Given the description of an element on the screen output the (x, y) to click on. 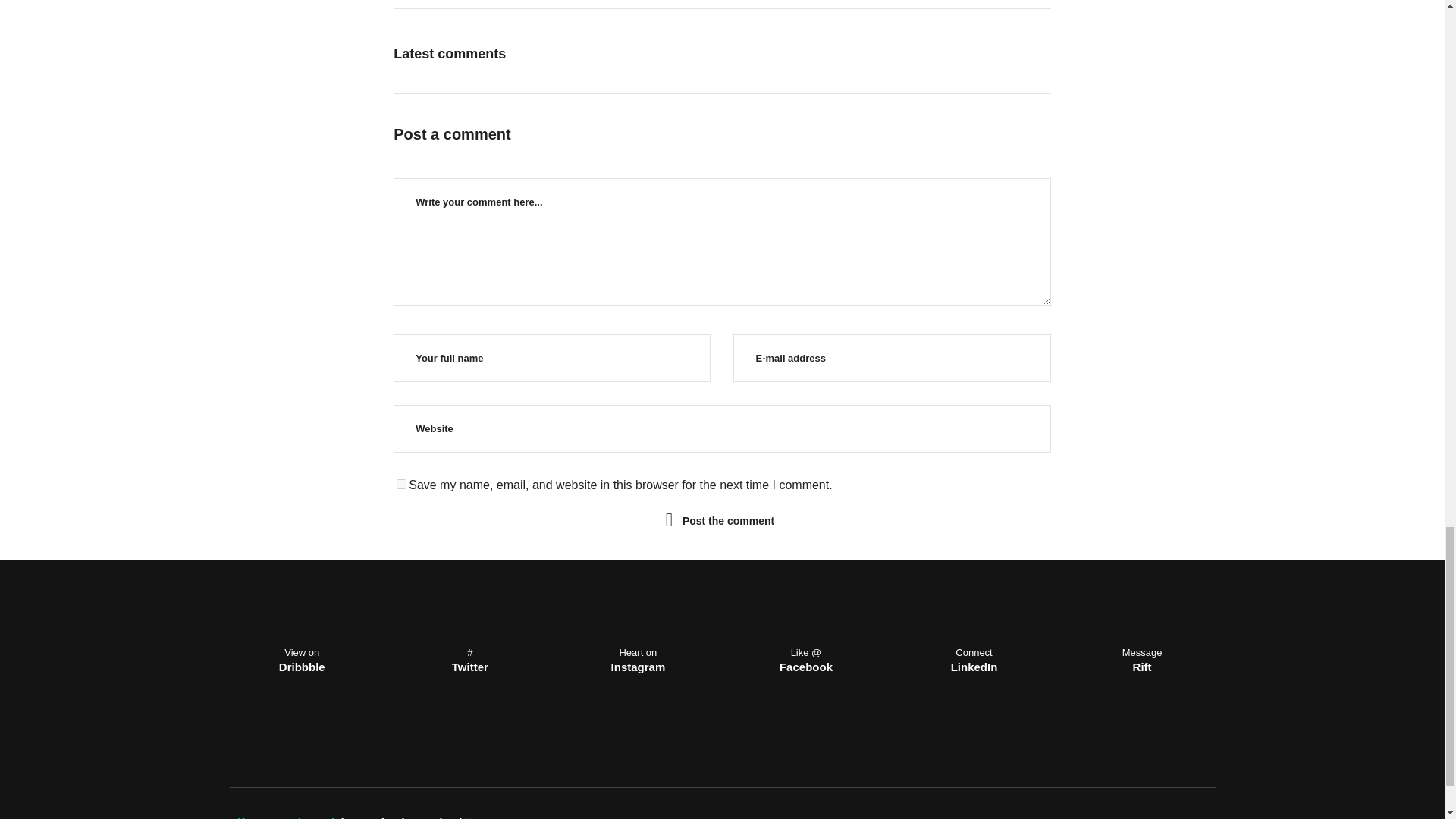
Post the comment (728, 519)
yes (401, 483)
Post the comment (728, 519)
